Given the description of an element on the screen output the (x, y) to click on. 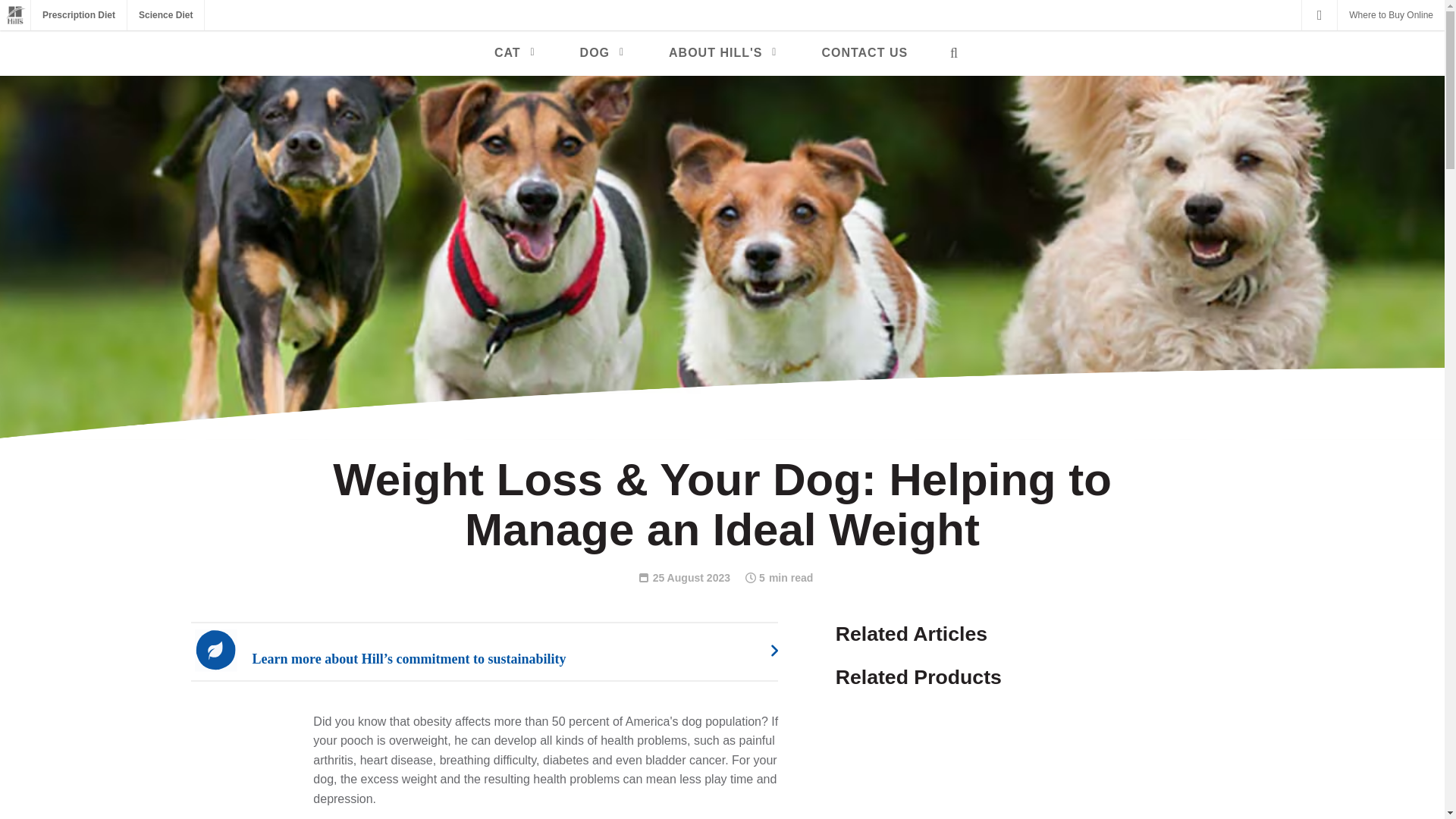
Learn more about sustainability (496, 651)
